Given the description of an element on the screen output the (x, y) to click on. 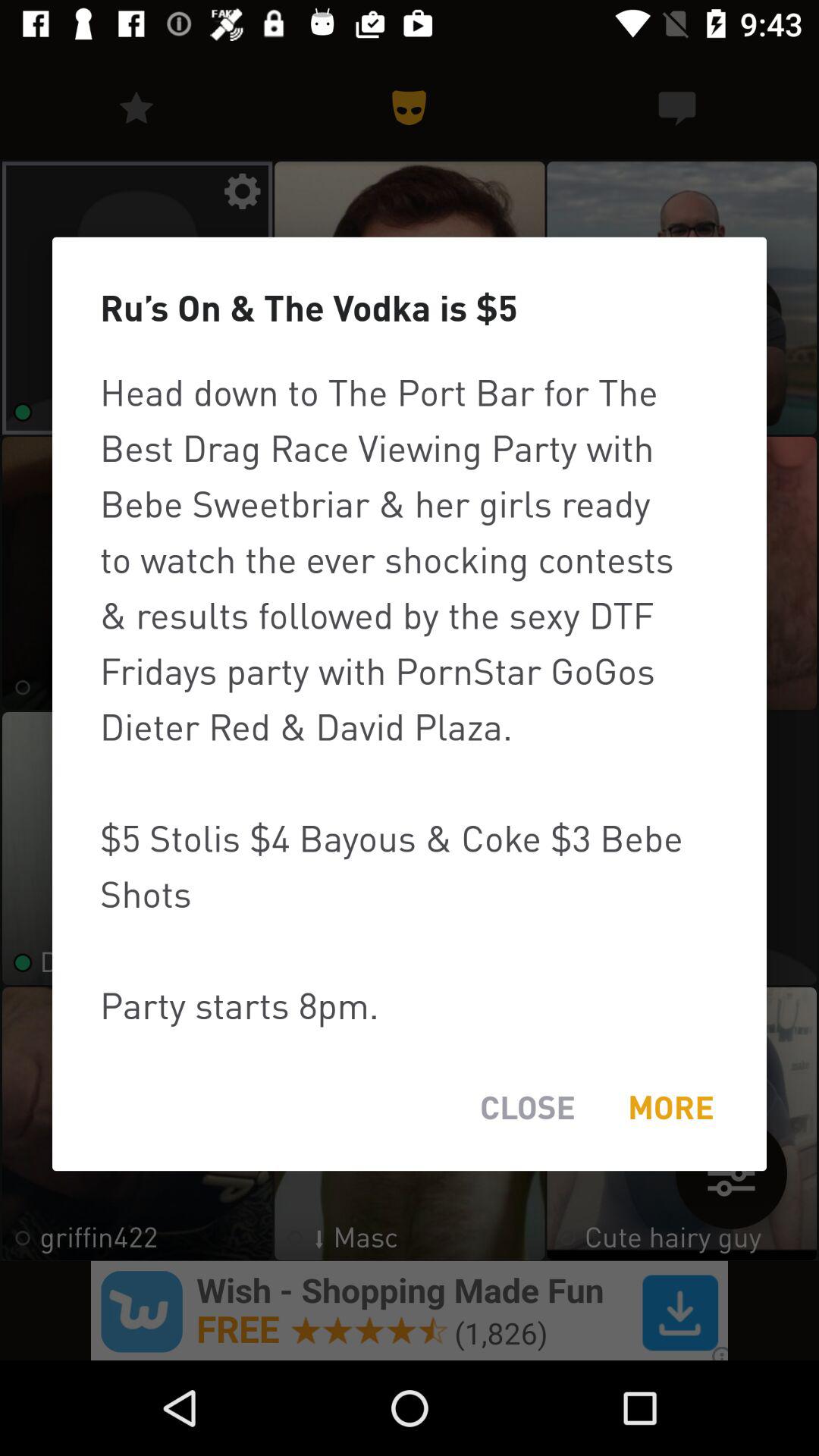
open item at the center (409, 698)
